Given the description of an element on the screen output the (x, y) to click on. 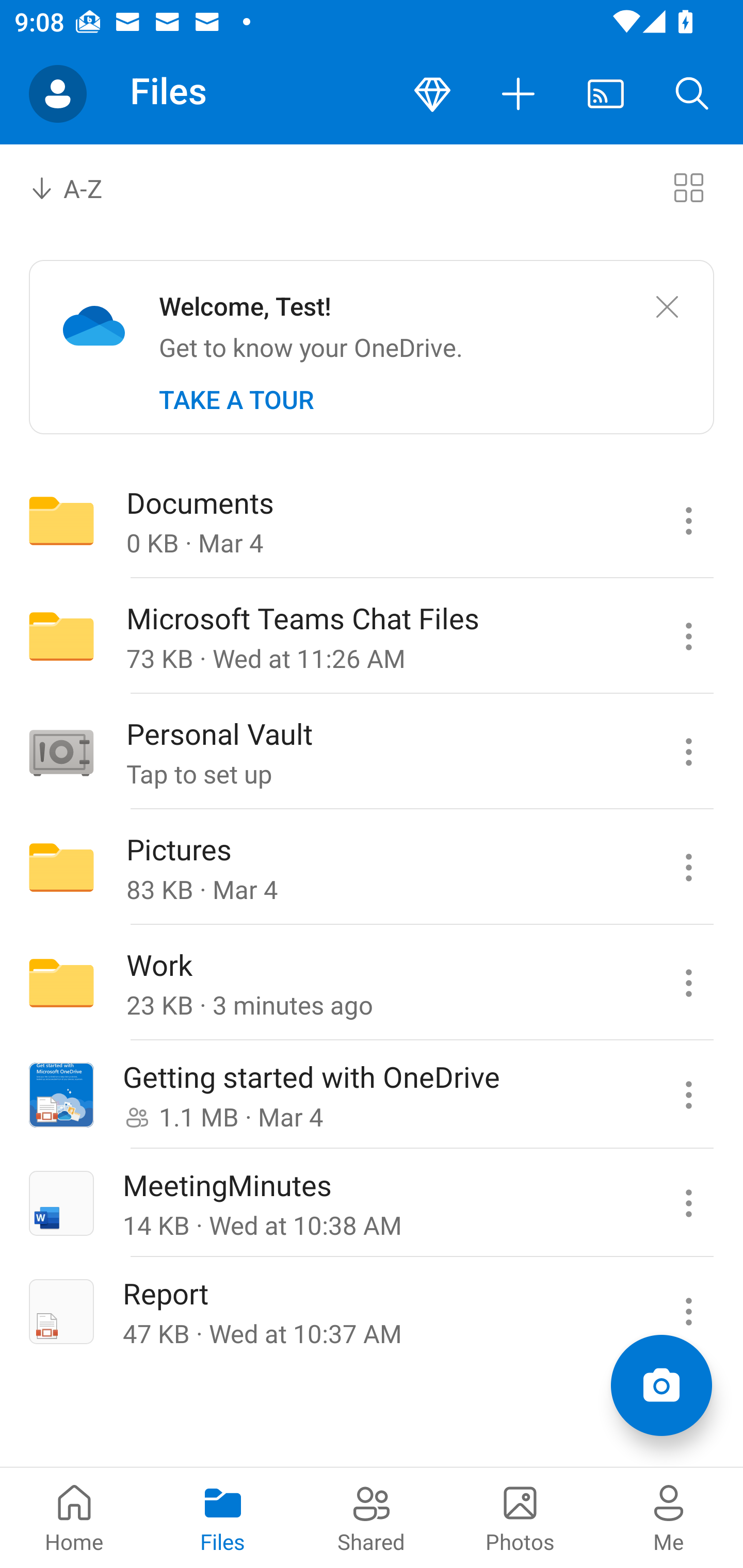
Account switcher (57, 93)
Cast. Disconnected (605, 93)
Premium button (432, 93)
More actions button (518, 93)
Search button (692, 93)
A-Z Sort by combo box, sort by name, A to Z (80, 187)
Switch to tiles view (688, 187)
Close (667, 307)
TAKE A TOUR (236, 399)
Folder Documents 0 KB · Mar 4 Documents commands (371, 520)
Documents commands (688, 520)
Microsoft Teams Chat Files commands (688, 636)
Personal Vault commands (688, 751)
Folder Pictures 83 KB · Mar 4 Pictures commands (371, 867)
Pictures commands (688, 867)
Folder Work 23 KB · 3 minutes ago Work commands (371, 983)
Work commands (688, 983)
Getting started with OneDrive commands (688, 1095)
MeetingMinutes commands (688, 1203)
Report commands (688, 1311)
Add items Scan (660, 1385)
Home pivot Home (74, 1517)
Shared pivot Shared (371, 1517)
Photos pivot Photos (519, 1517)
Me pivot Me (668, 1517)
